Given the description of an element on the screen output the (x, y) to click on. 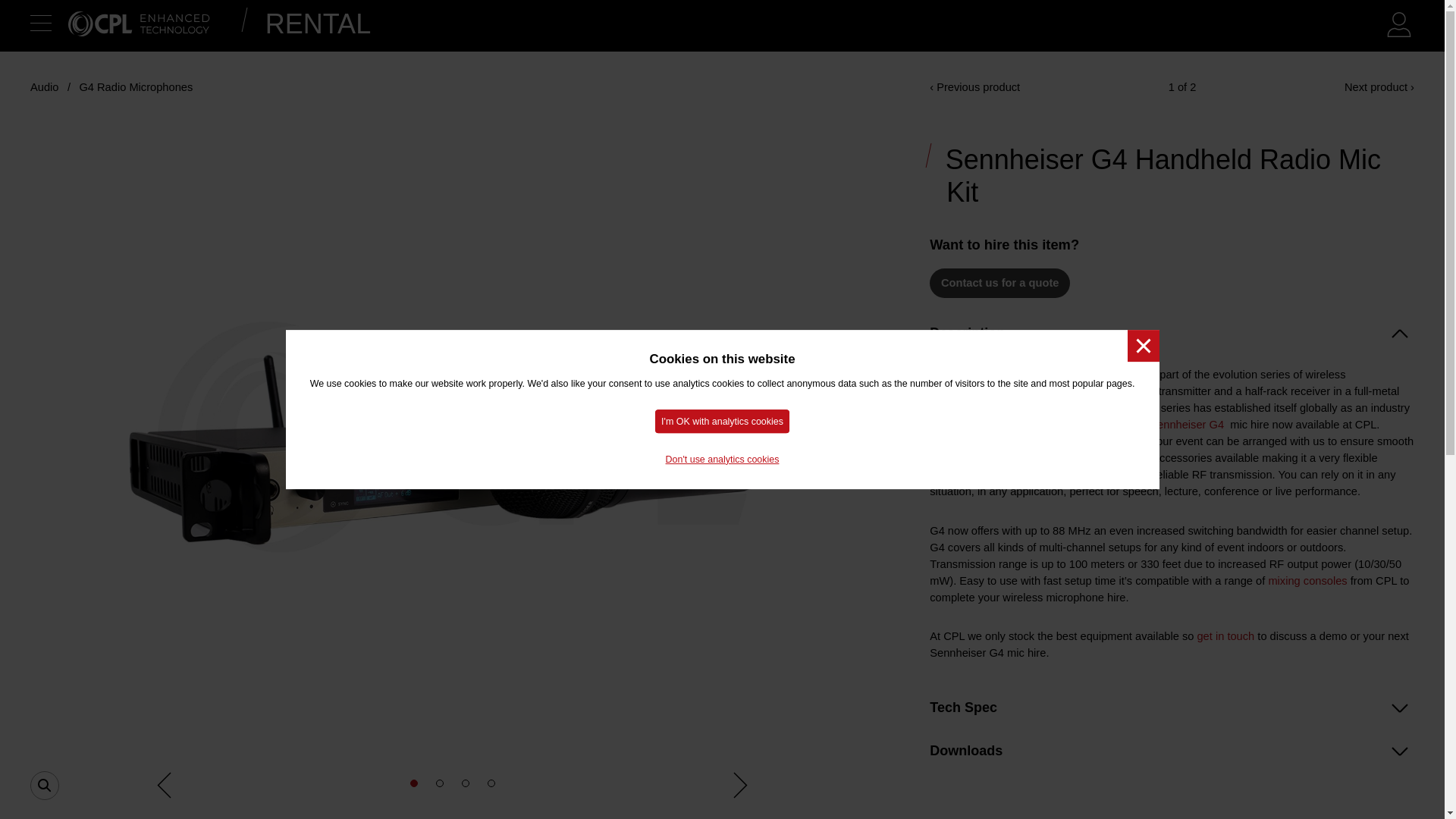
CPL (41, 59)
3 (464, 783)
G4 Radio Microphones (135, 87)
1 (413, 783)
My account (1398, 33)
Go to the CPL home page (138, 25)
Audio (44, 87)
Go to my account (1398, 33)
1 of 2 (1182, 87)
